Given the description of an element on the screen output the (x, y) to click on. 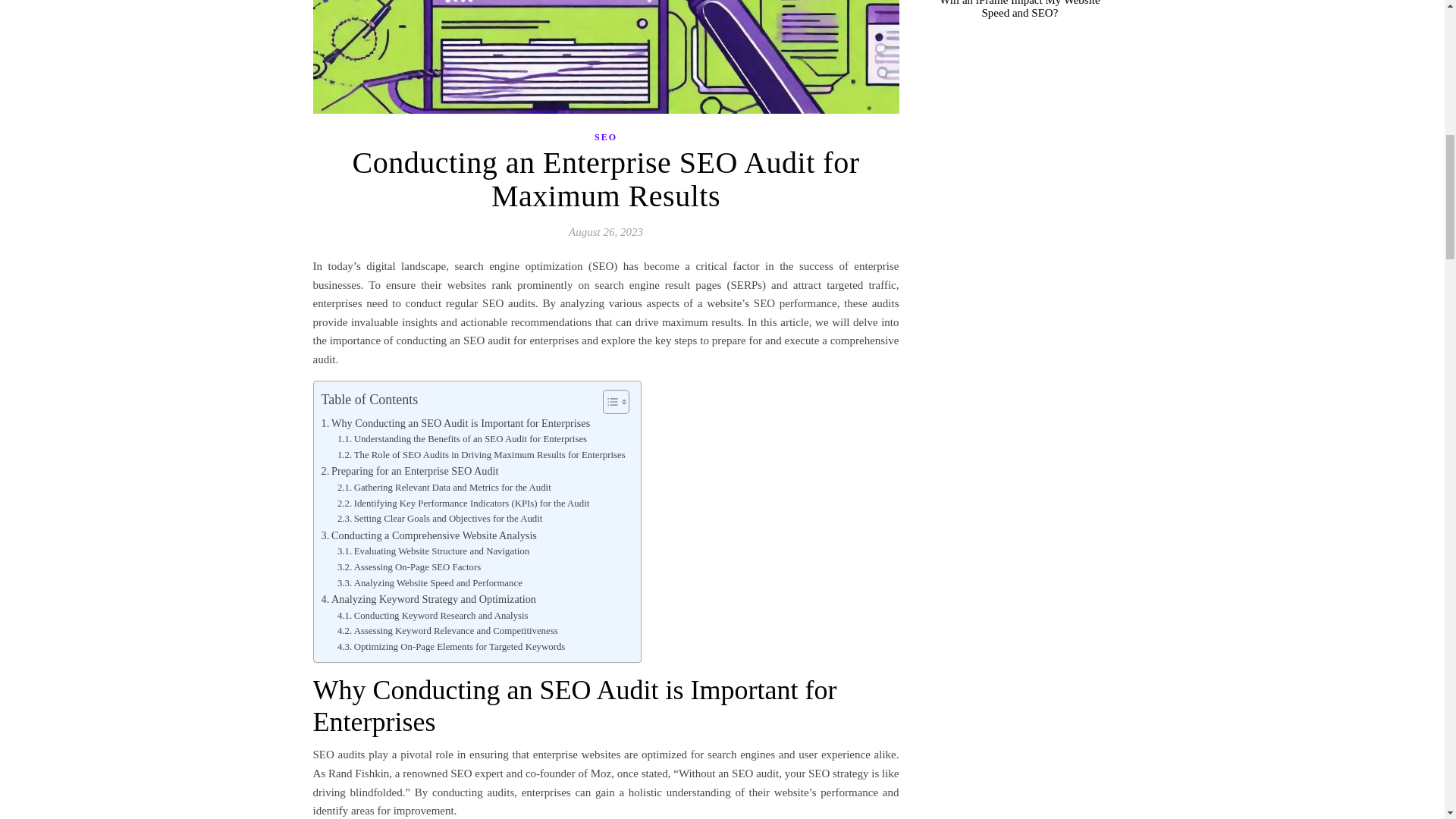
Conducting an Enterprise SEO Audit for Maximum Results 13 (605, 56)
Conducting a Comprehensive Website Analysis (429, 535)
Setting Clear Goals and Objectives for the Audit (440, 519)
Understanding the Benefits of an SEO Audit for Enterprises (461, 439)
SEO (605, 137)
Why Conducting an SEO Audit is Important for Enterprises (456, 422)
Preparing for an Enterprise SEO Audit (410, 470)
Gathering Relevant Data and Metrics for the Audit (444, 487)
Why Conducting an SEO Audit is Important for Enterprises (456, 422)
Preparing for an Enterprise SEO Audit (410, 470)
Understanding the Benefits of an SEO Audit for Enterprises (461, 439)
